Given the description of an element on the screen output the (x, y) to click on. 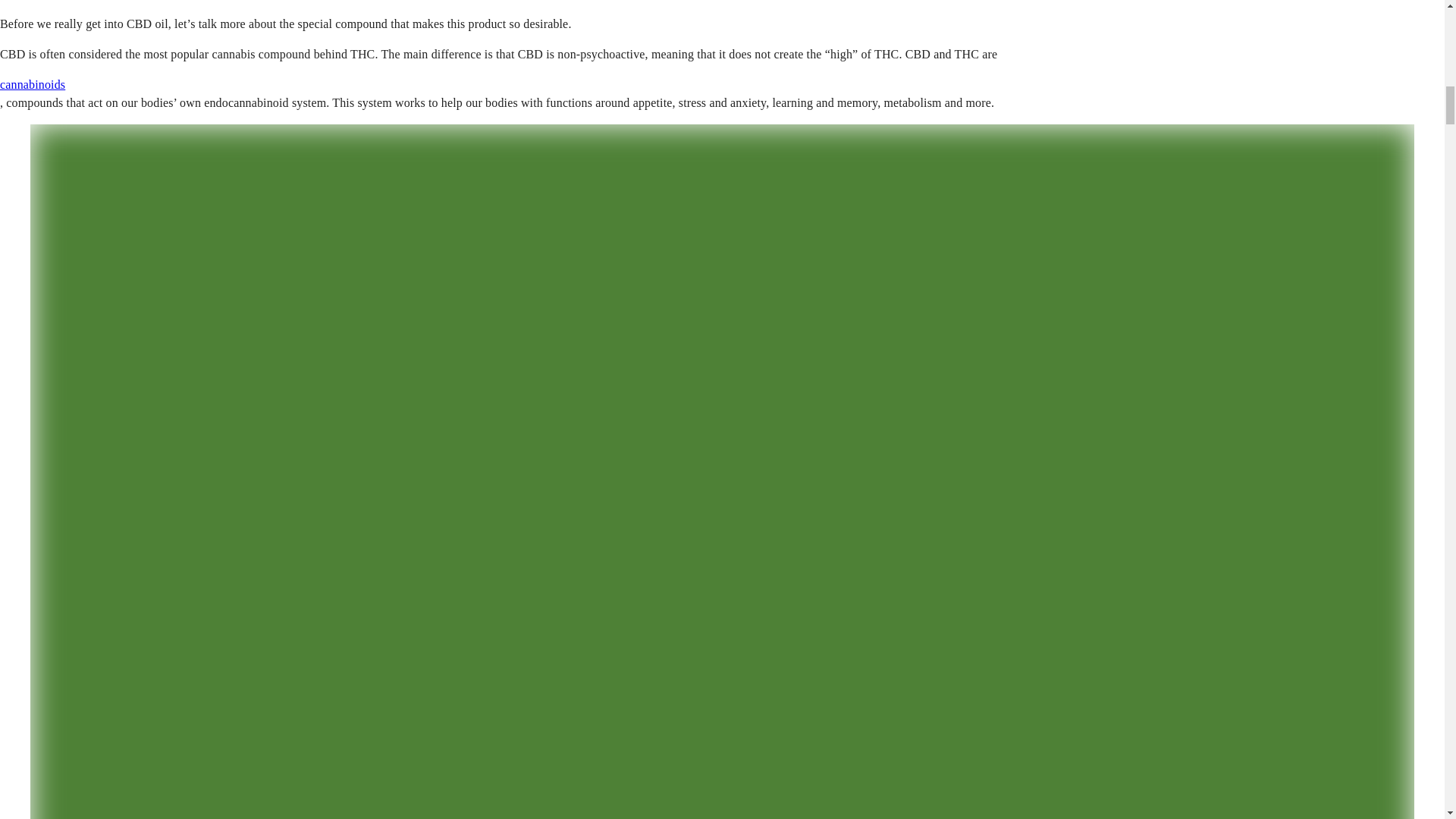
cannabinoids (32, 83)
